Given the description of an element on the screen output the (x, y) to click on. 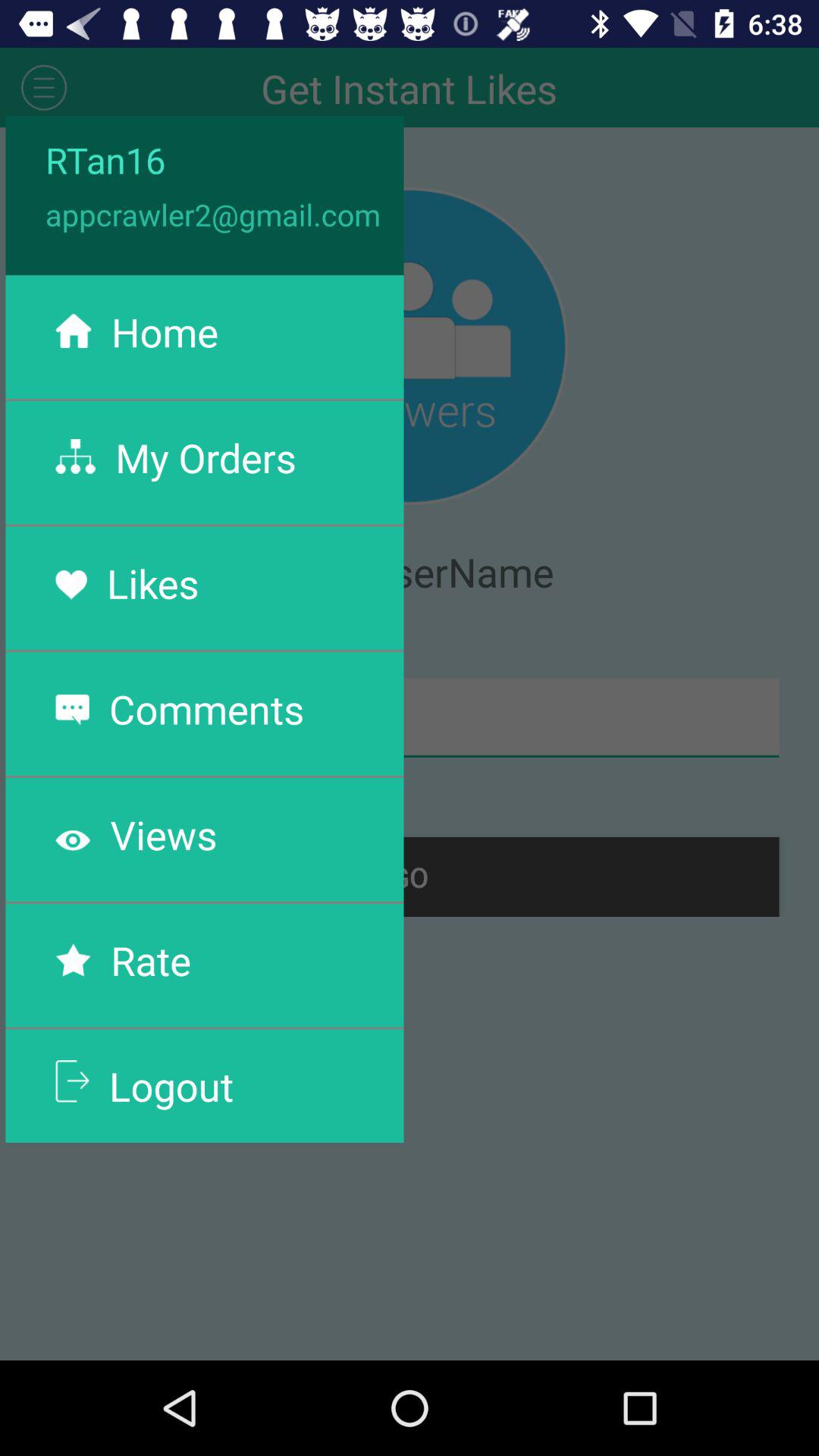
click comments app (206, 708)
